Given the description of an element on the screen output the (x, y) to click on. 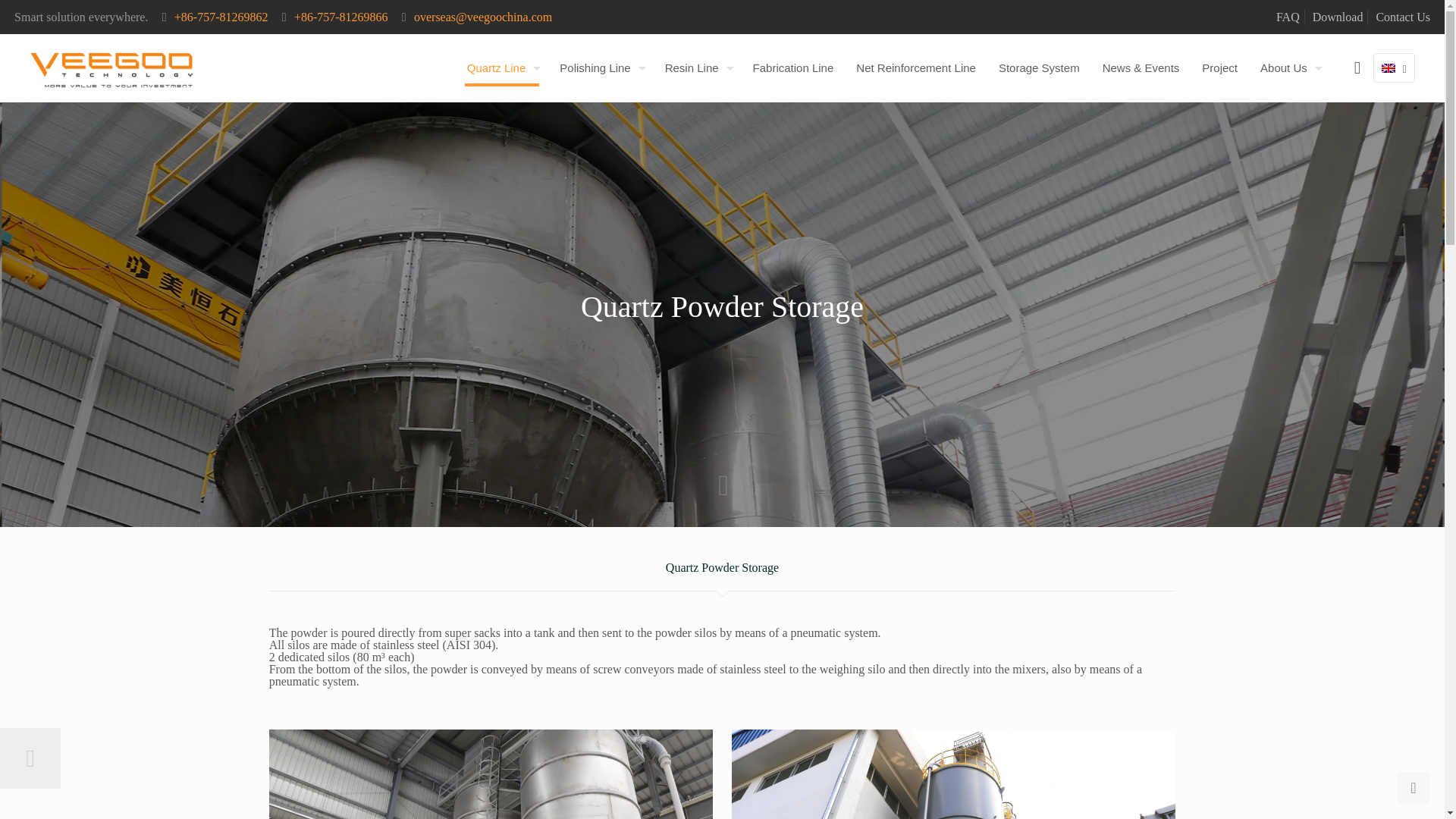
Resin Line (697, 68)
Polishing Line (600, 68)
Download (1337, 16)
Quartz Line (501, 68)
FAQ (1288, 16)
Contact Us (1402, 16)
